Given the description of an element on the screen output the (x, y) to click on. 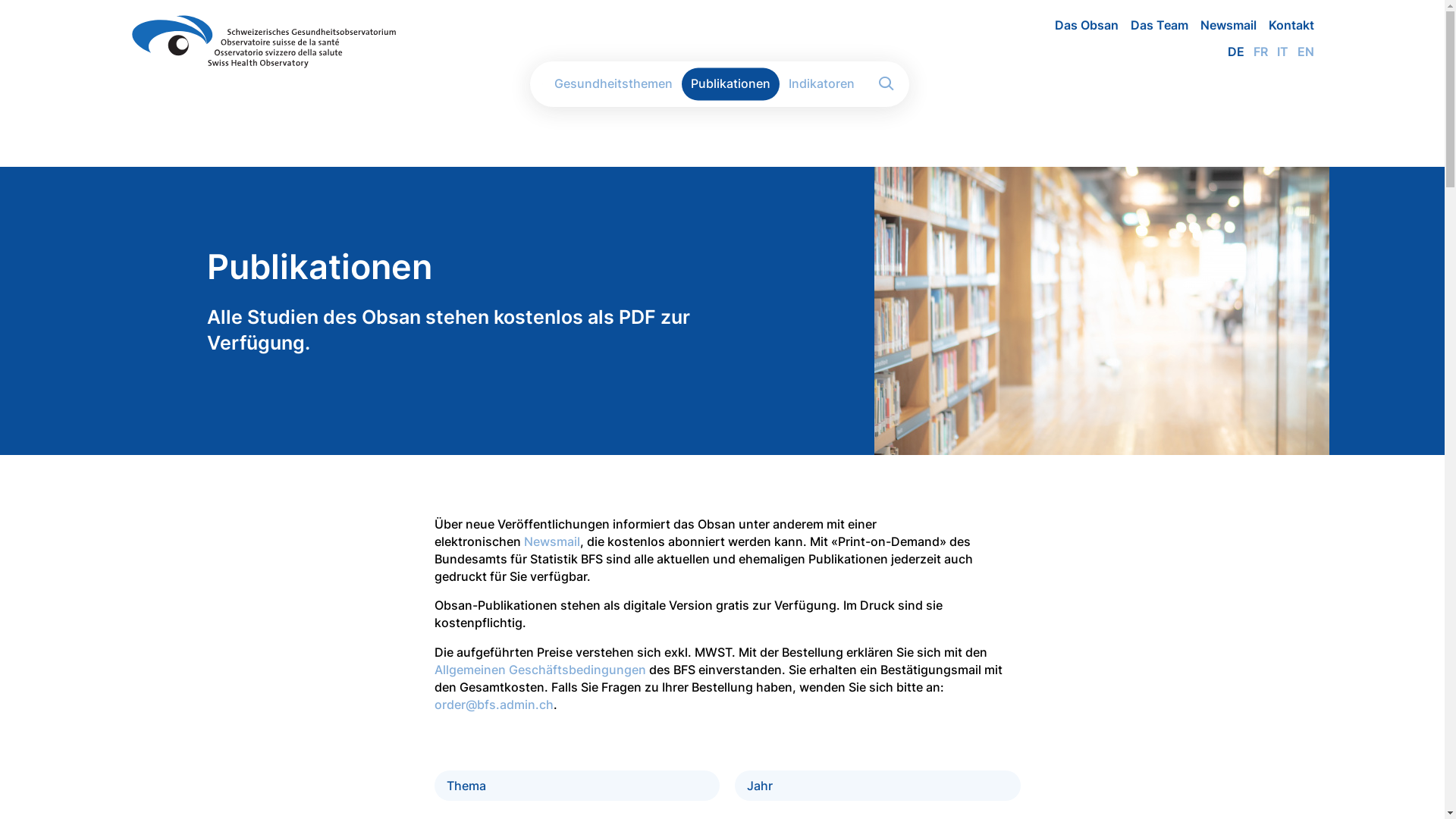
Das Team Element type: text (1152, 24)
Kontakt Element type: text (1284, 24)
Indikatoren Element type: text (821, 83)
Das Obsan Element type: text (1079, 24)
IT Element type: text (1277, 51)
Gesundheitsthemen Element type: text (612, 83)
DE Element type: text (1230, 51)
EN Element type: text (1300, 51)
Newsmail Element type: text (551, 541)
Apply Element type: text (885, 84)
FR Element type: text (1255, 51)
order@bfs.admin.ch Element type: text (492, 704)
Publikationen Element type: text (729, 83)
Newsmail Element type: text (1221, 24)
